Given the description of an element on the screen output the (x, y) to click on. 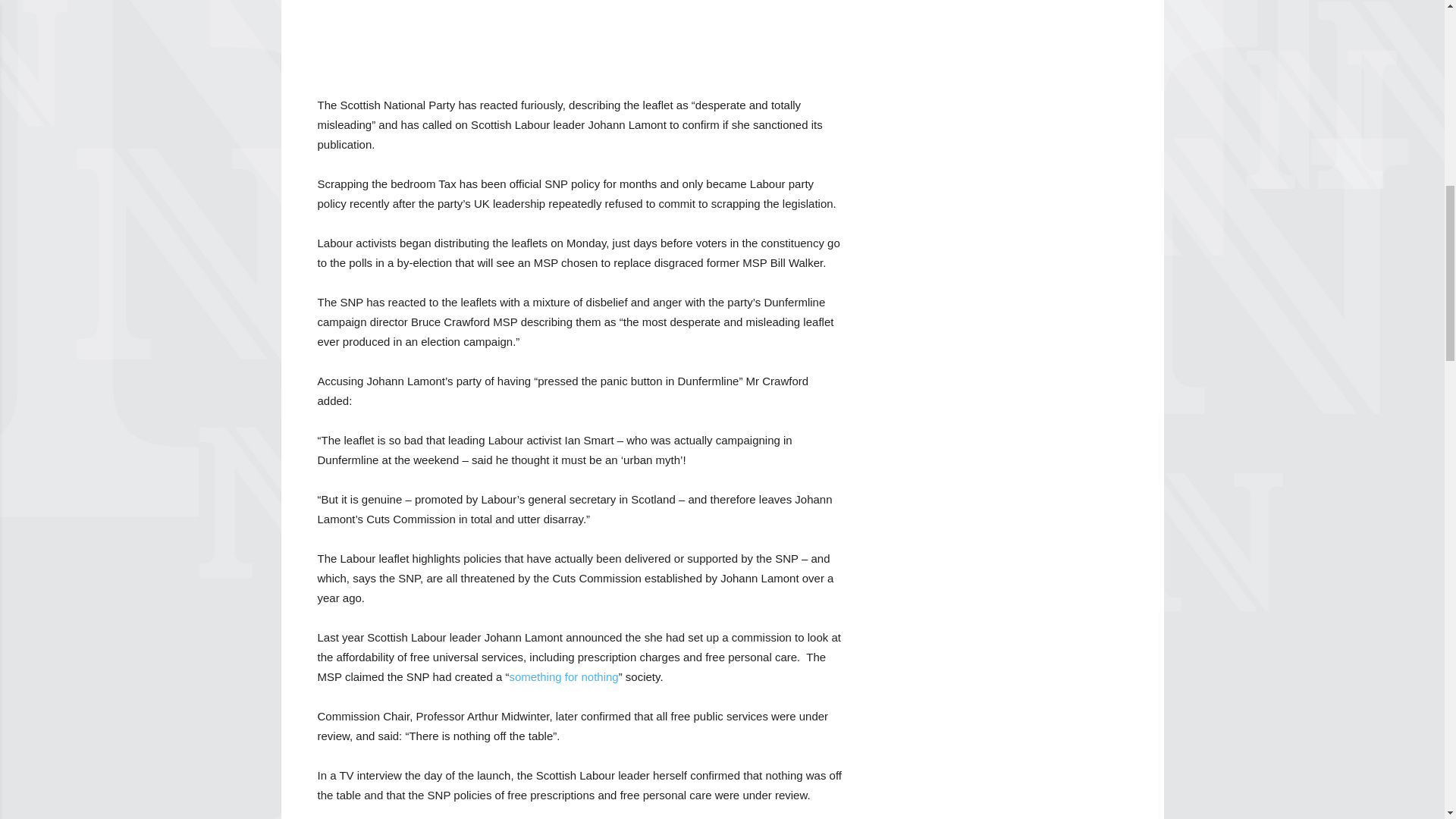
something for nothing (562, 676)
